Given the description of an element on the screen output the (x, y) to click on. 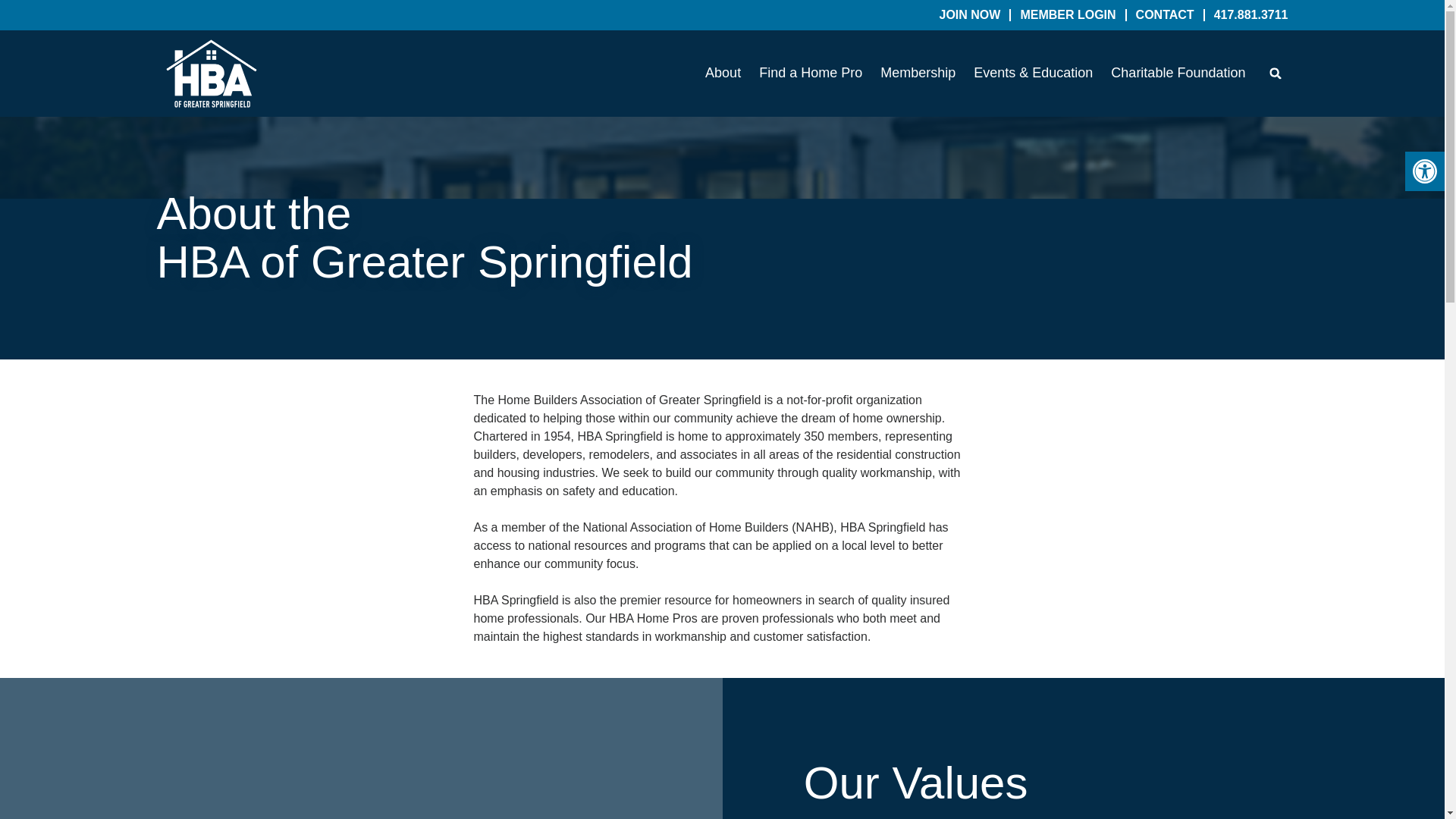
Membership (917, 73)
Accessibility Tools (1424, 170)
MEMBER LOGIN (1067, 15)
About (722, 73)
CONTACT (1164, 15)
417.881.3711 (1251, 15)
JOIN NOW (969, 15)
Find a Home Pro (809, 73)
